Given the description of an element on the screen output the (x, y) to click on. 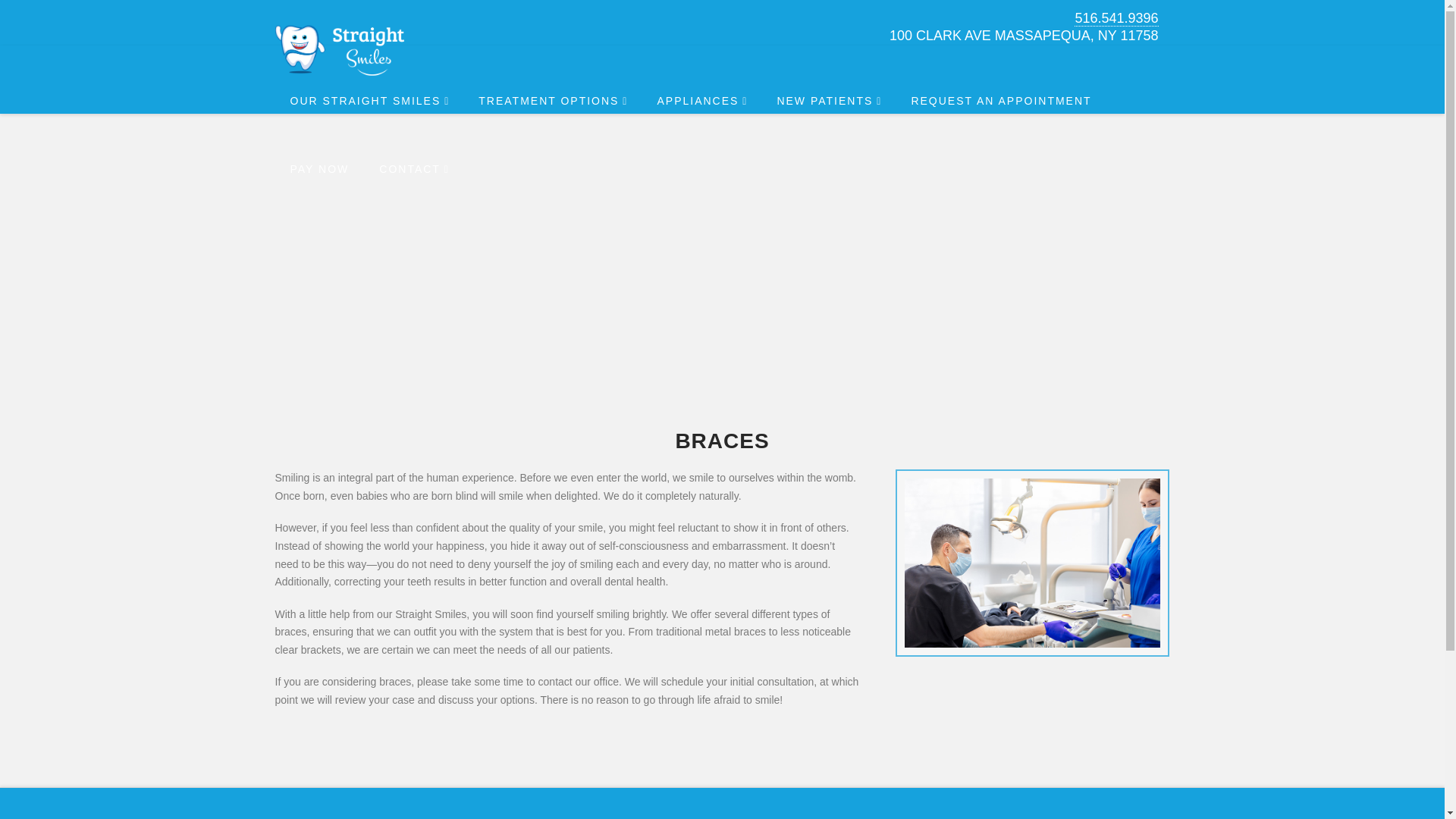
CONTACT (413, 197)
ready for the smile you have always wanted! (339, 70)
OUR STRAIGHT SMILES (369, 129)
NEW PATIENTS (828, 129)
REQUEST AN APPOINTMENT (1000, 129)
TREATMENT OPTIONS (552, 129)
PAY NOW (319, 197)
APPLIANCES (701, 129)
516.541.9396 (1115, 18)
